Given the description of an element on the screen output the (x, y) to click on. 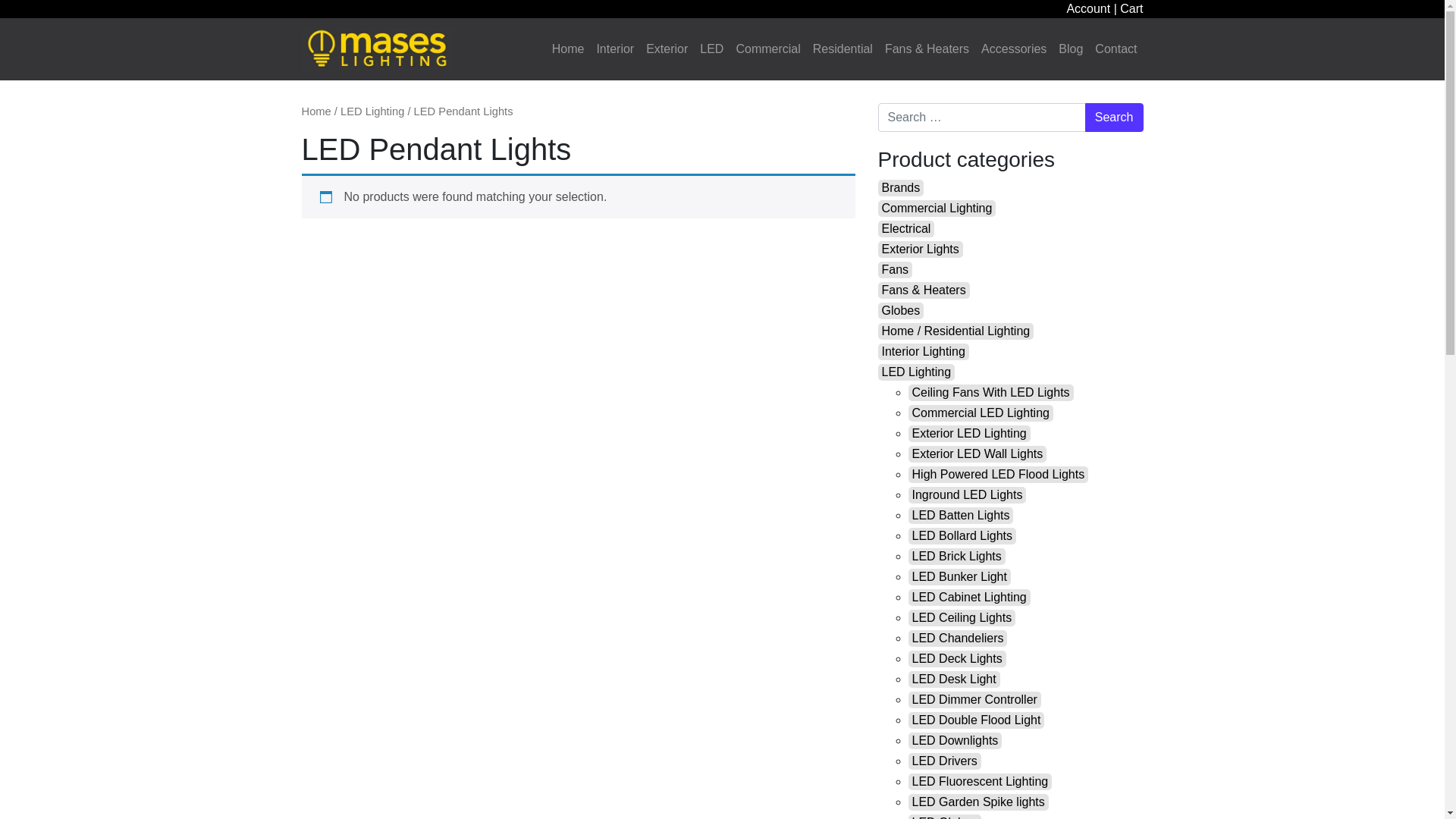
LED Cabinet Lighting Element type: text (969, 597)
LED Drivers Element type: text (944, 761)
Brands Element type: text (901, 187)
Residential Element type: text (842, 49)
LED Desk Light Element type: text (954, 679)
LED Deck Lights Element type: text (957, 658)
Contact Element type: text (1115, 49)
Accessories Element type: text (1013, 49)
Home / Residential Lighting Element type: text (956, 331)
LED Lighting Element type: text (372, 111)
Globes Element type: text (901, 310)
Exterior LED Wall Lights Element type: text (977, 453)
Commercial Element type: text (767, 49)
Fans & Heaters Element type: text (926, 49)
Ceiling Fans With LED Lights Element type: text (990, 392)
LED Ceiling Lights Element type: text (962, 617)
LED Downlights Element type: text (955, 740)
Fans Element type: text (895, 269)
Exterior LED Lighting Element type: text (969, 433)
LED Brick Lights Element type: text (956, 556)
Account Element type: text (1088, 8)
Search Element type: text (1114, 117)
LED Garden Spike lights Element type: text (978, 801)
Home Element type: text (316, 111)
Interior Element type: text (614, 49)
Interior Lighting Element type: text (923, 351)
Exterior Element type: text (666, 49)
Commercial Lighting Element type: text (937, 208)
LED Bunker Light Element type: text (959, 576)
LED Bollard Lights Element type: text (962, 535)
LED Batten Lights Element type: text (960, 515)
Inground LED Lights Element type: text (967, 494)
LED Chandeliers Element type: text (957, 638)
LED Element type: text (711, 49)
Blog Element type: text (1070, 49)
Cart Element type: text (1131, 8)
LED Fluorescent Lighting Element type: text (980, 781)
Home Element type: text (568, 49)
LED Dimmer Controller Element type: text (974, 699)
Commercial LED Lighting Element type: text (980, 412)
High Powered LED Flood Lights Element type: text (998, 474)
Exterior Lights Element type: text (920, 249)
Fans & Heaters Element type: text (923, 290)
LED Double Flood Light Element type: text (976, 720)
LED Lighting Element type: text (916, 372)
Electrical Element type: text (906, 228)
